Given the description of an element on the screen output the (x, y) to click on. 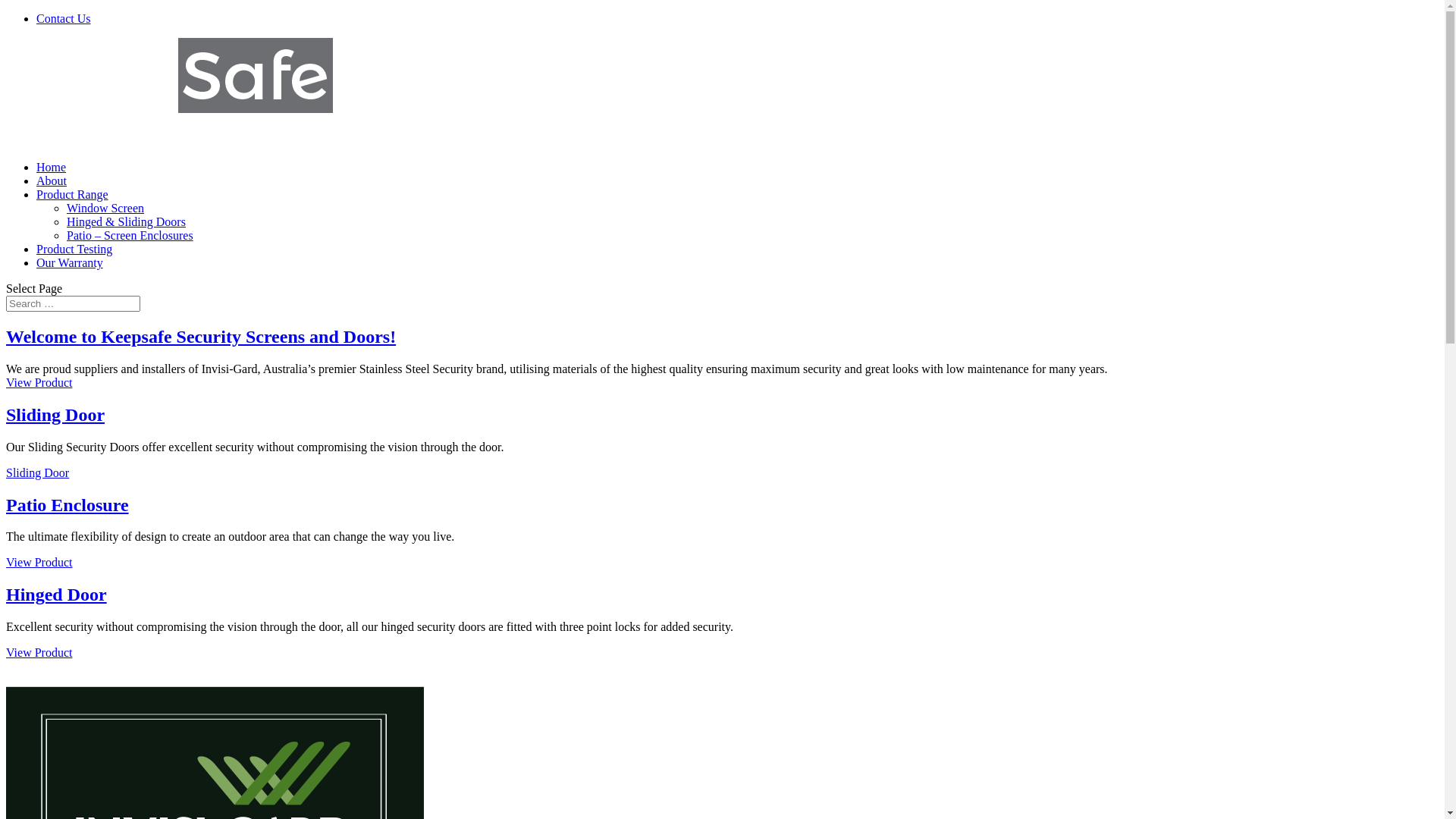
Sliding Door Element type: text (37, 472)
Contact Us Element type: text (63, 18)
View Product Element type: text (39, 561)
Product Testing Element type: text (74, 248)
Sliding Door Element type: text (55, 414)
Window Screen Element type: text (105, 207)
Search for: Element type: hover (73, 303)
Welcome to Keepsafe Security Screens and Doors! Element type: text (200, 336)
Home Element type: text (50, 166)
Product Range Element type: text (72, 194)
Hinged & Sliding Doors Element type: text (125, 221)
View Product Element type: text (39, 382)
Our Warranty Element type: text (69, 262)
About Element type: text (51, 180)
Patio Enclosure Element type: text (67, 504)
View Product Element type: text (39, 652)
Hinged Door Element type: text (56, 594)
